Given the description of an element on the screen output the (x, y) to click on. 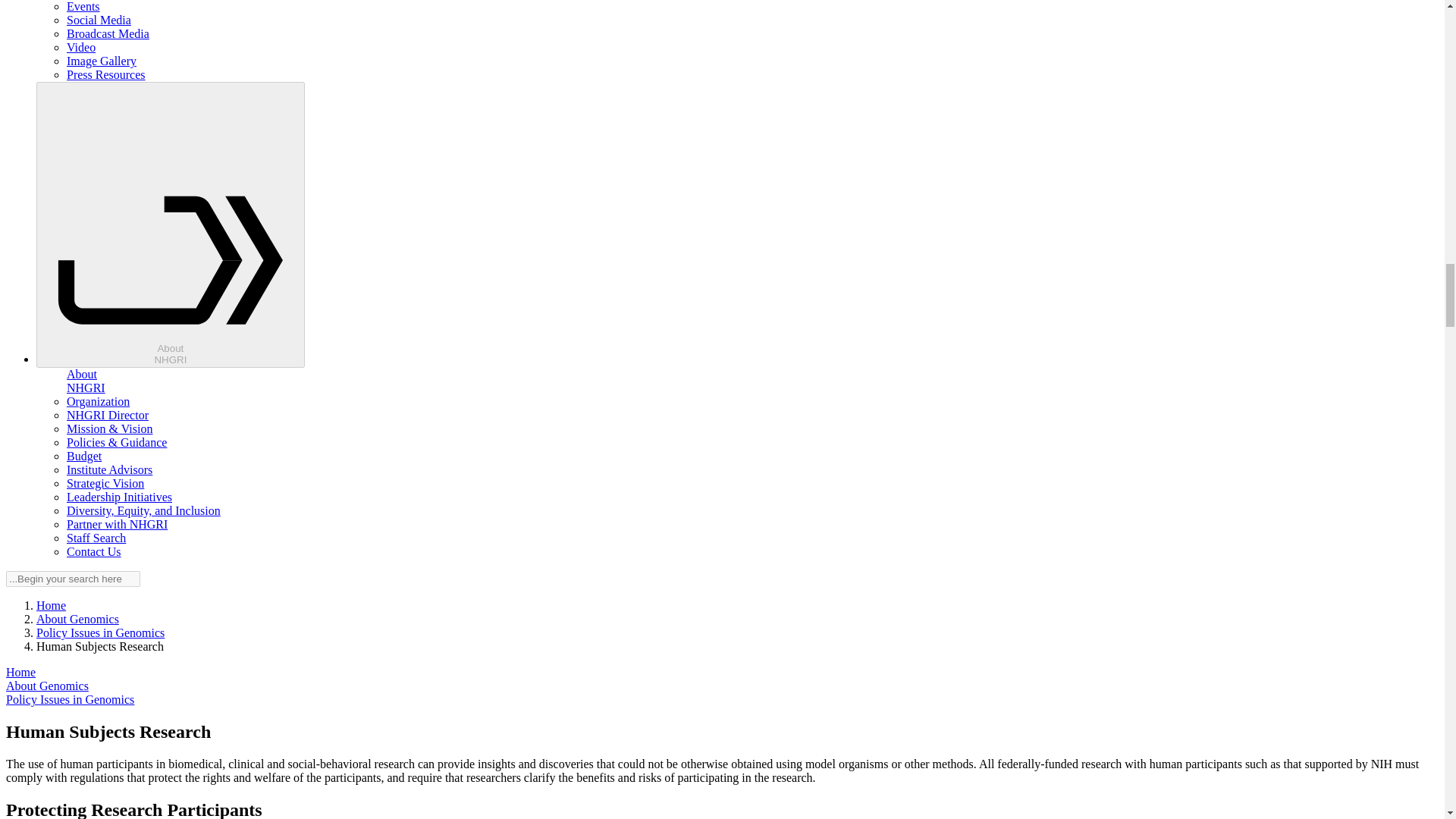
enter the terms you wish to search for (72, 578)
